Given the description of an element on the screen output the (x, y) to click on. 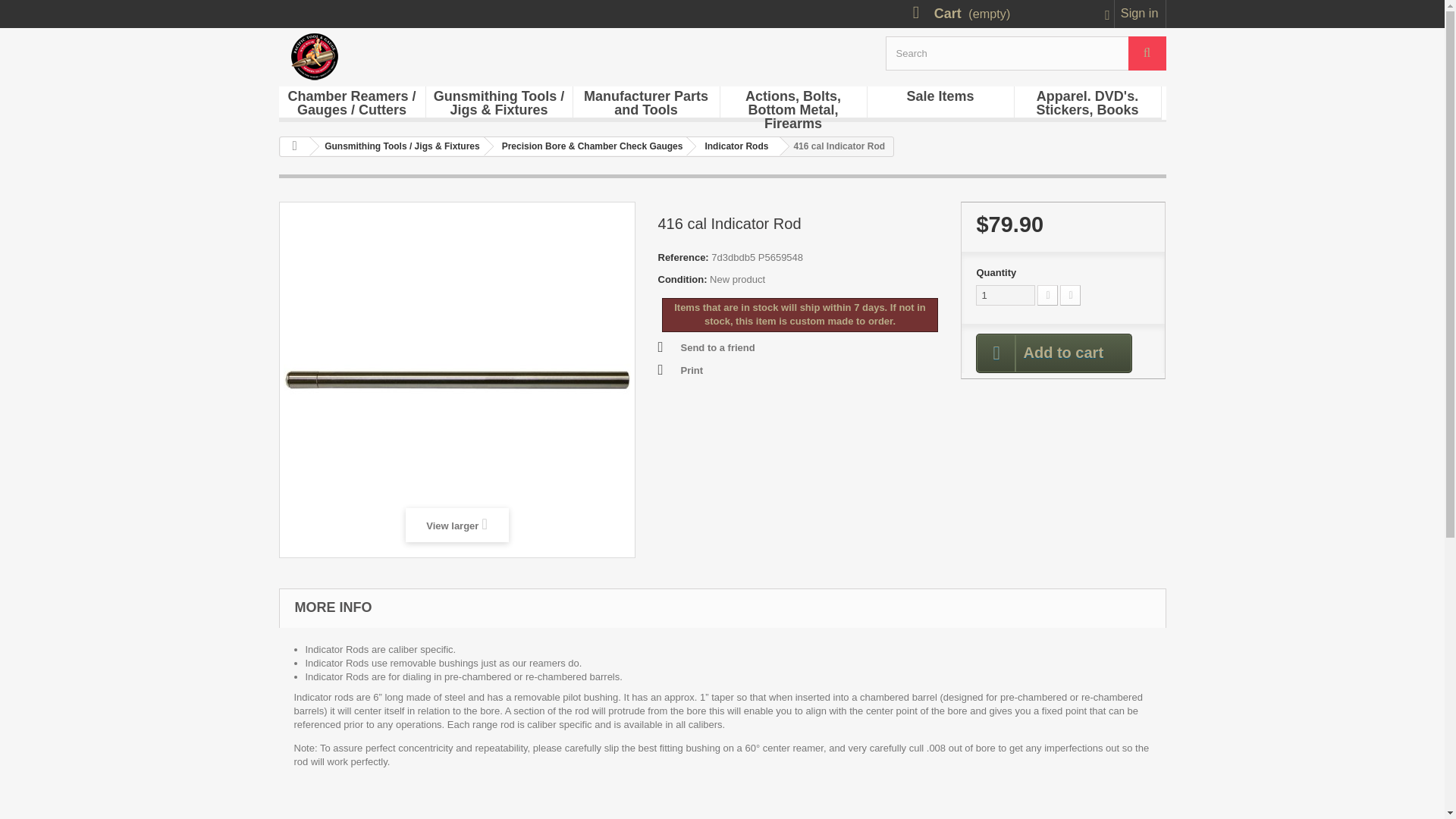
1 (1005, 295)
View my shopping cart (1010, 12)
Log in to your customer account (1140, 13)
Pacific Tool and Gauge (425, 55)
Sign in (1140, 13)
